Given the description of an element on the screen output the (x, y) to click on. 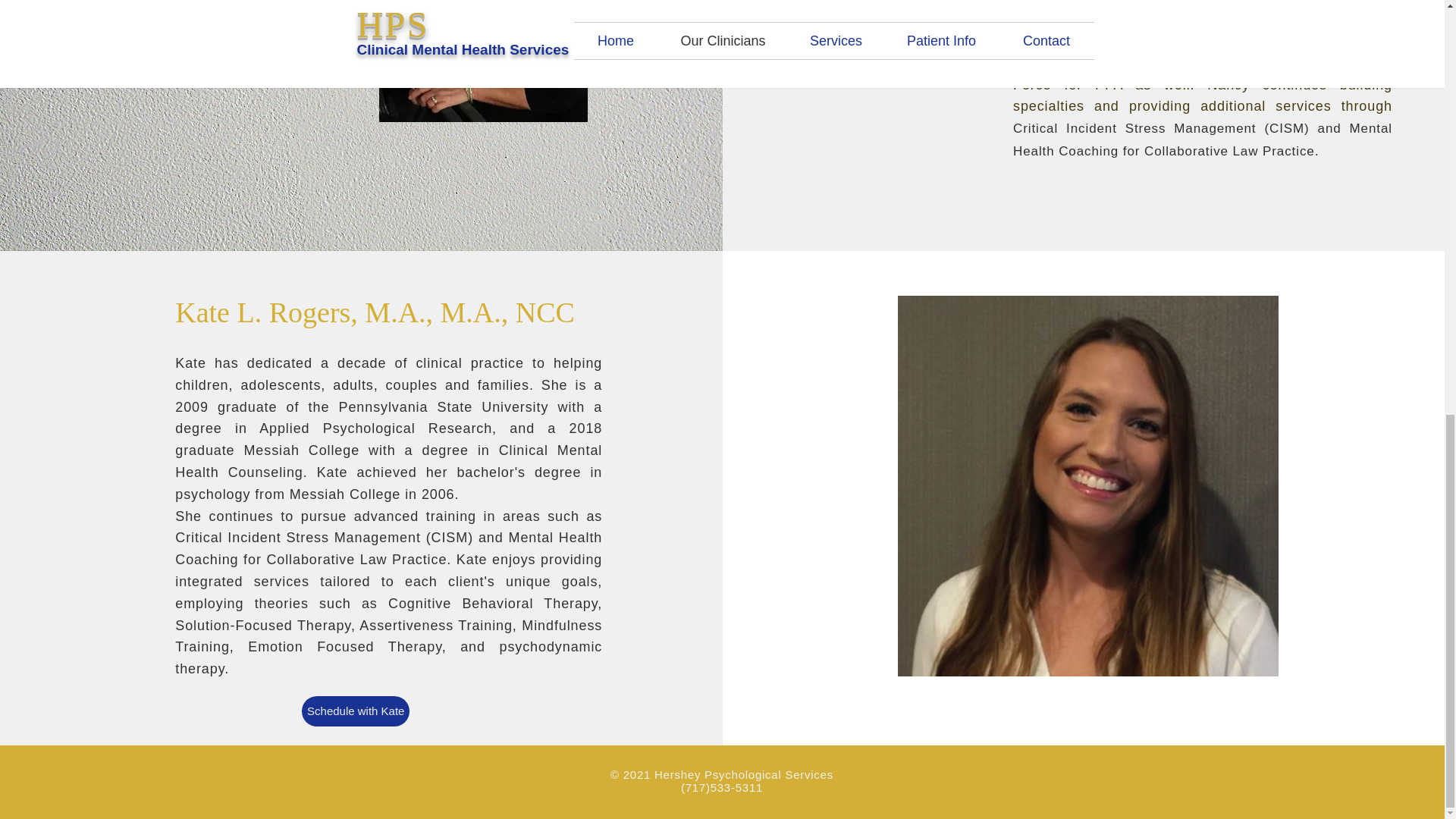
Schedule with Kate (355, 711)
